Given the description of an element on the screen output the (x, y) to click on. 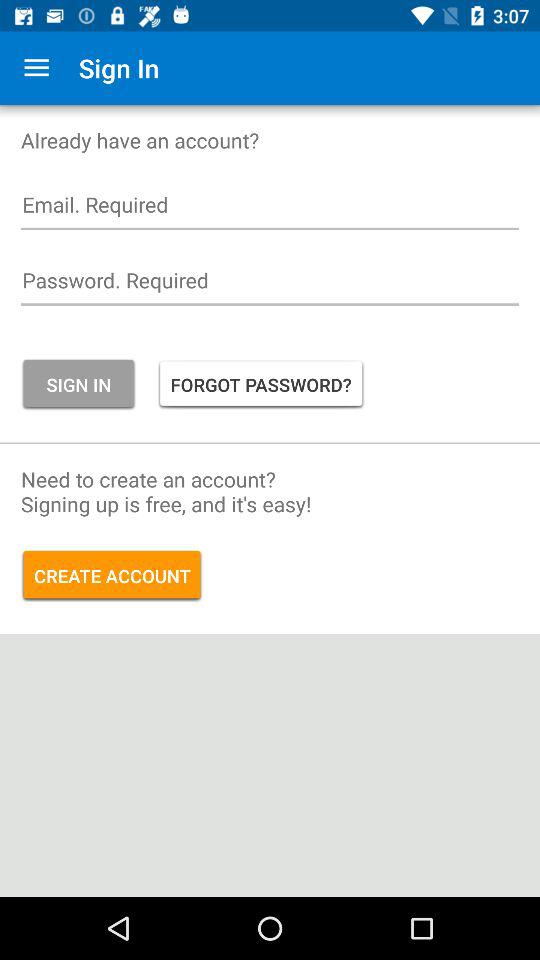
open the icon above sign in icon (270, 285)
